Given the description of an element on the screen output the (x, y) to click on. 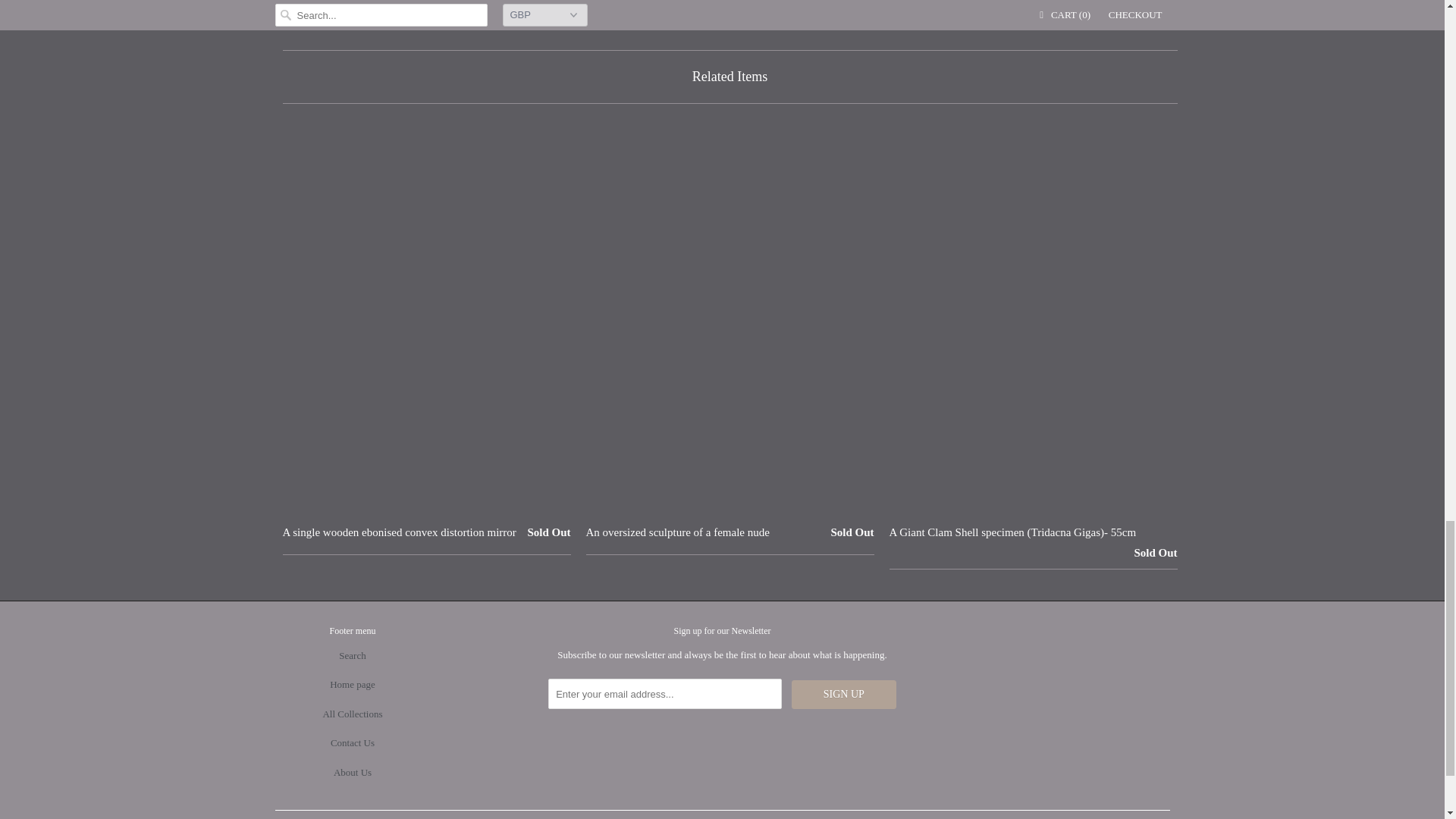
Sign Up (844, 694)
